Given the description of an element on the screen output the (x, y) to click on. 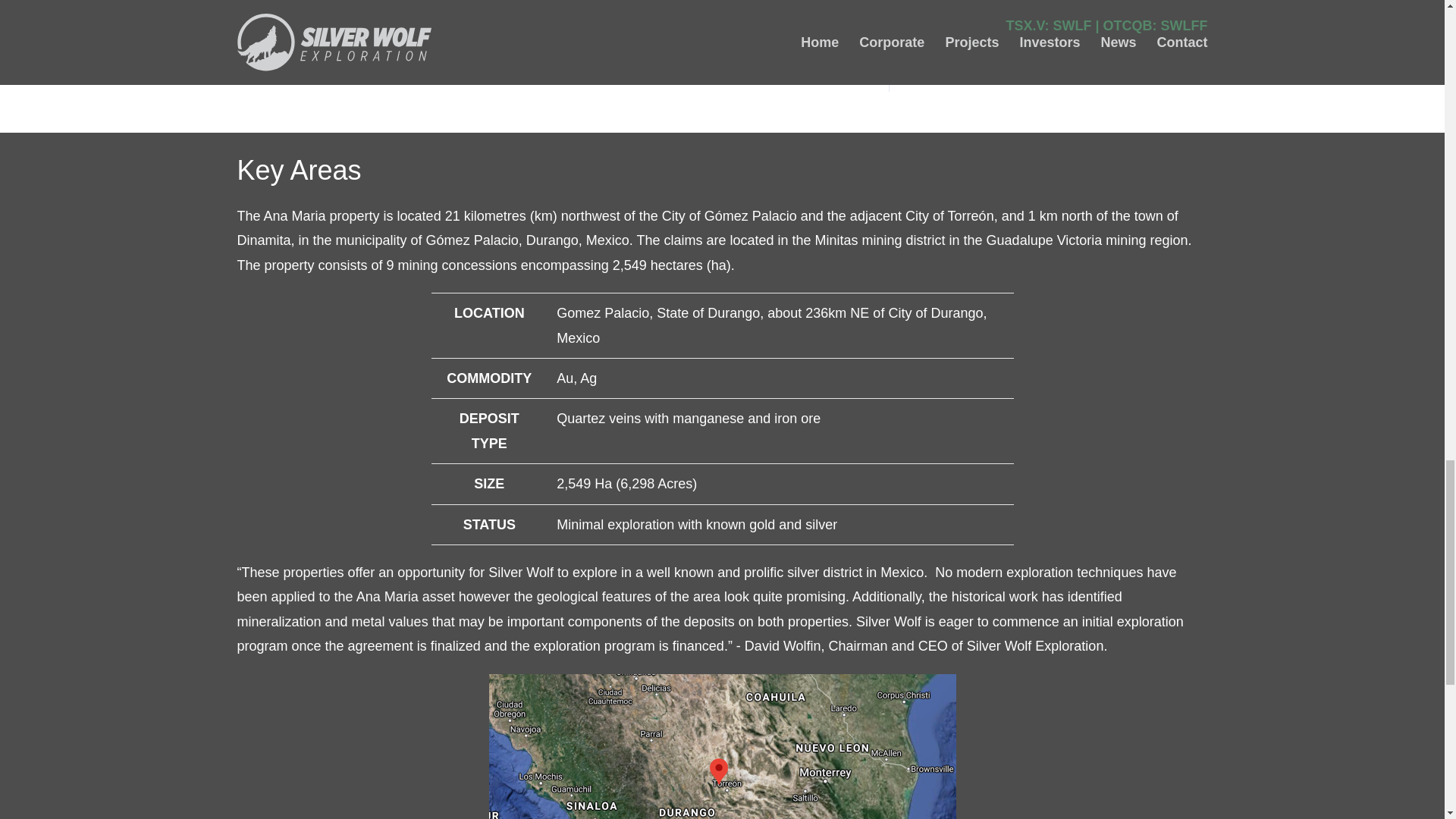
YouTube video player (557, 38)
